Given the description of an element on the screen output the (x, y) to click on. 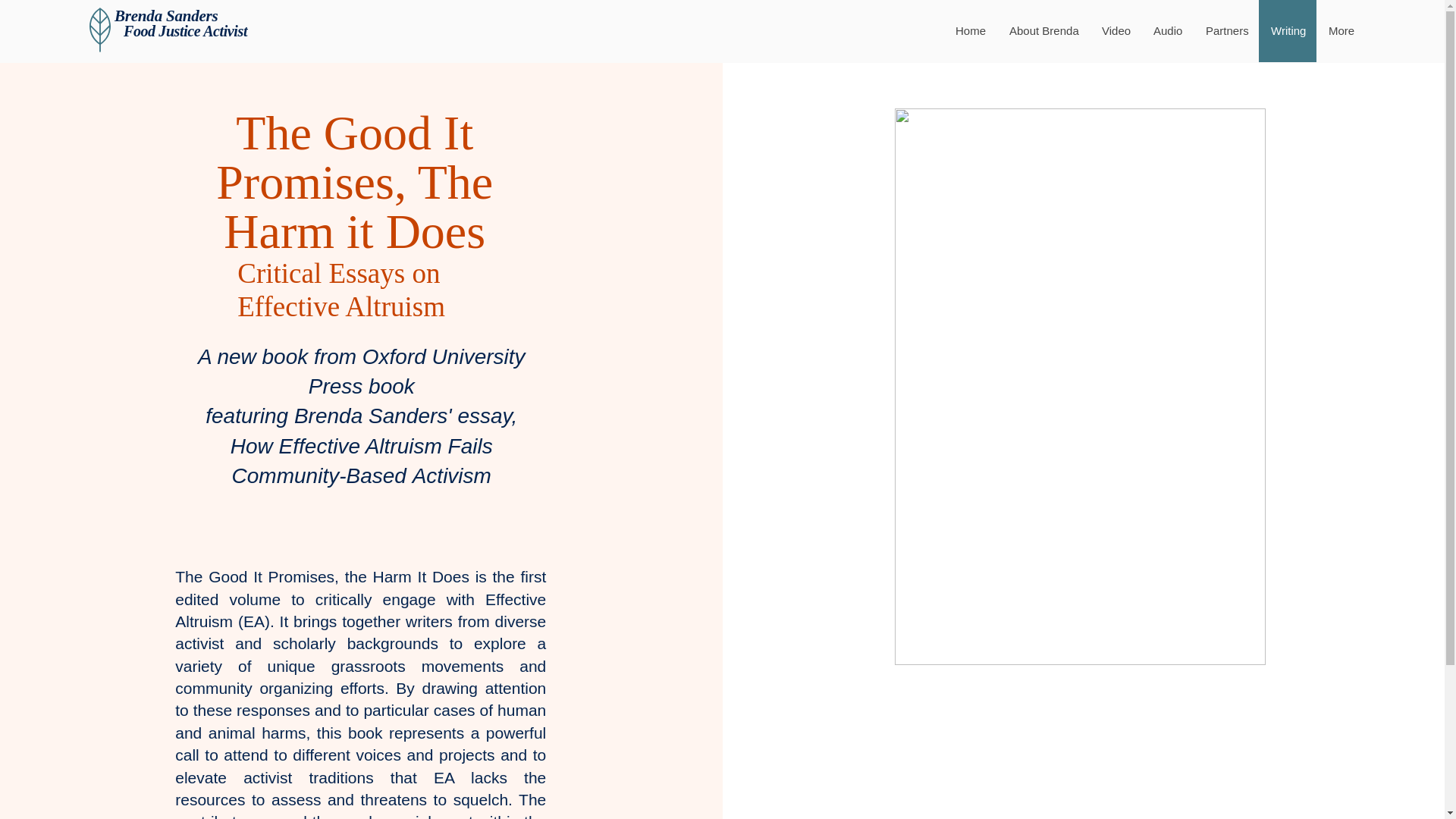
About Brenda (1043, 31)
Partners (1226, 31)
Writing (1287, 31)
Brenda (138, 15)
